Given the description of an element on the screen output the (x, y) to click on. 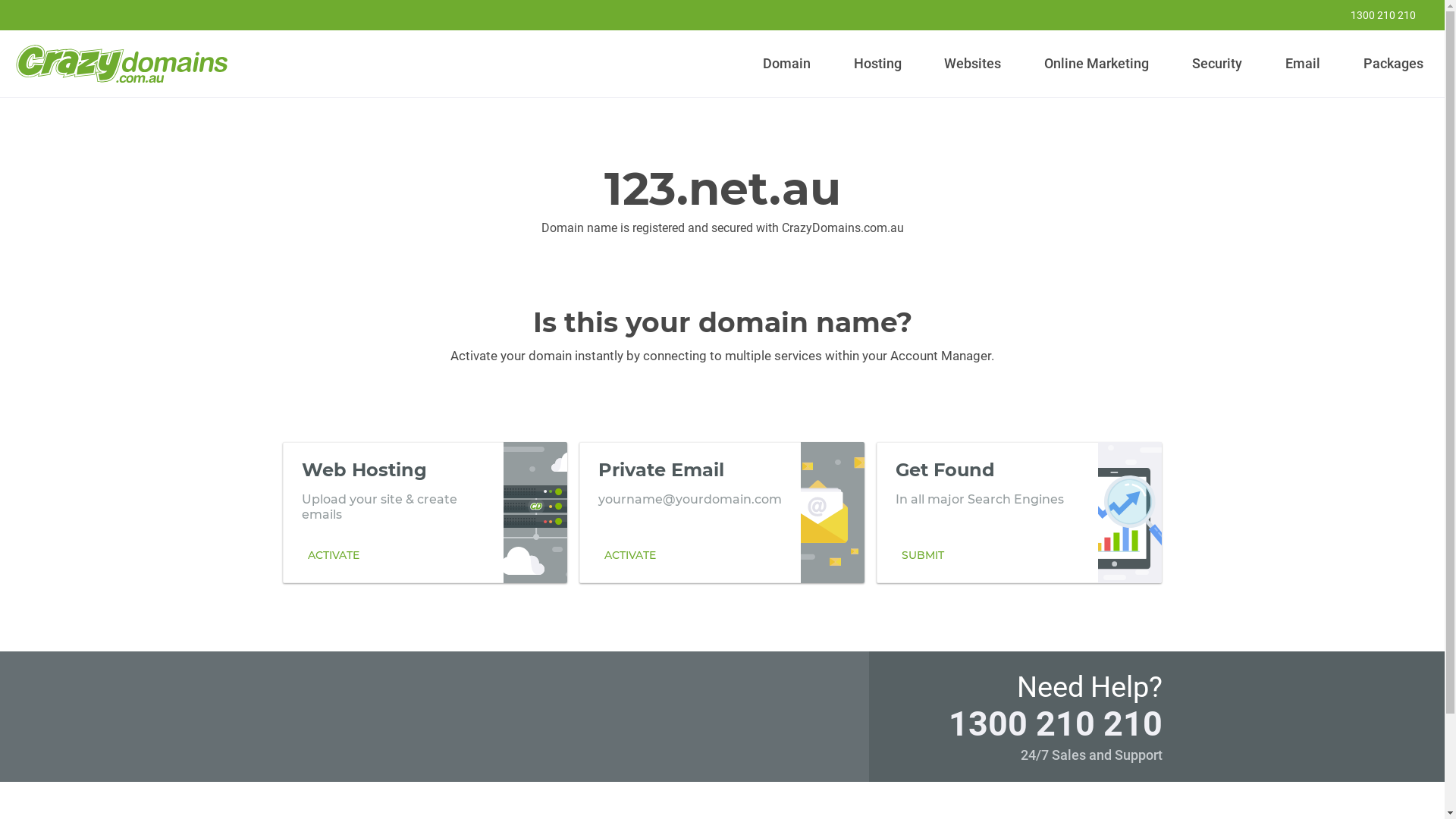
Email Element type: text (1302, 63)
Security Element type: text (1217, 63)
Hosting Element type: text (877, 63)
1300 210 210 Element type: text (1054, 723)
1300 210 210 Element type: text (1373, 15)
Get Found
In all major Search Engines
SUBMIT Element type: text (1018, 511)
Domain Element type: text (786, 63)
Web Hosting
Upload your site & create emails
ACTIVATE Element type: text (424, 511)
Websites Element type: text (972, 63)
Private Email
yourname@yourdomain.com
ACTIVATE Element type: text (721, 511)
Online Marketing Element type: text (1096, 63)
Packages Element type: text (1392, 63)
